Given the description of an element on the screen output the (x, y) to click on. 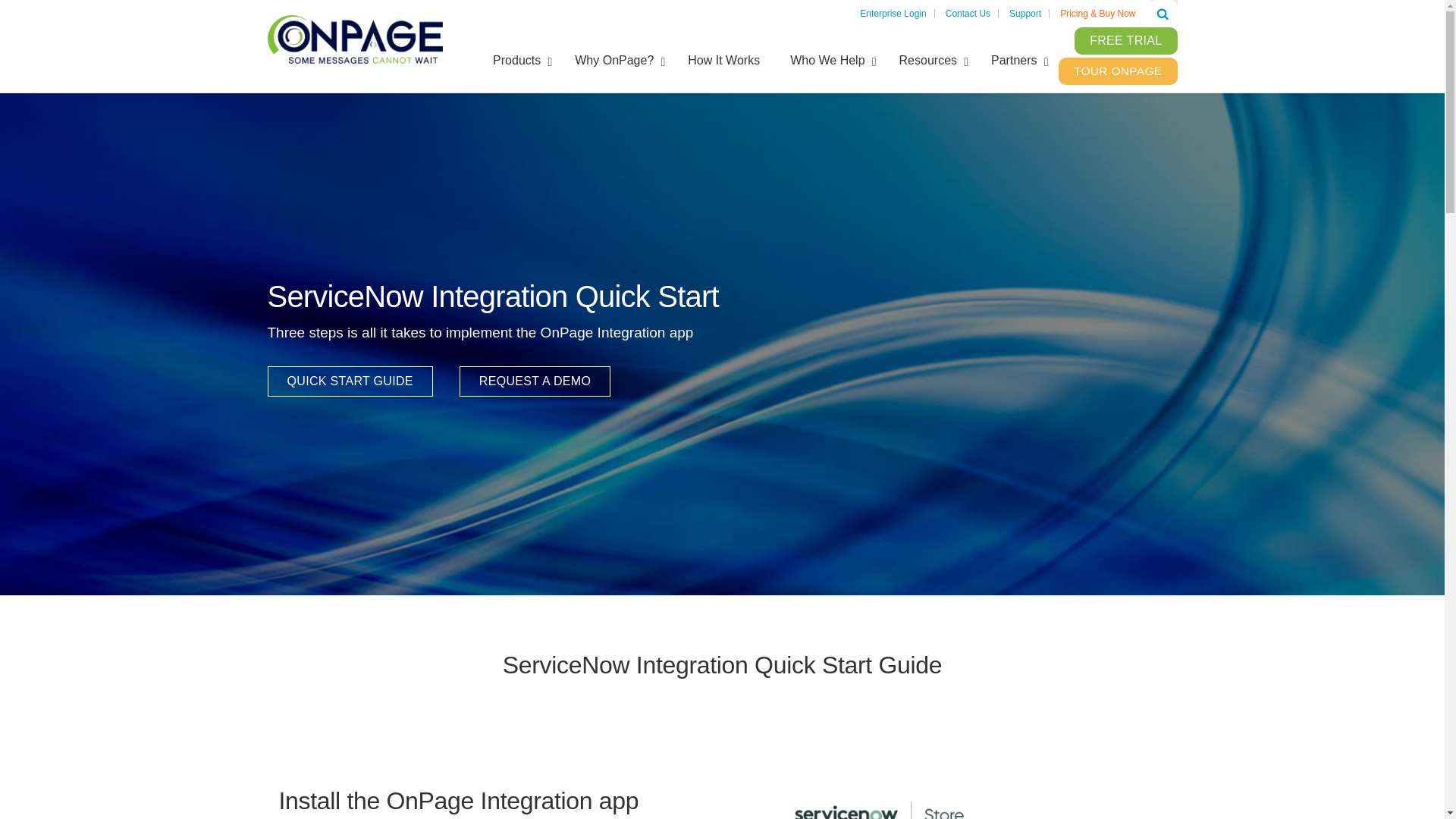
Who We Help (828, 60)
Products (518, 60)
How It Works (723, 60)
Search (1162, 14)
Why OnPage? (615, 60)
OnPage (354, 38)
Search (1162, 14)
